Given the description of an element on the screen output the (x, y) to click on. 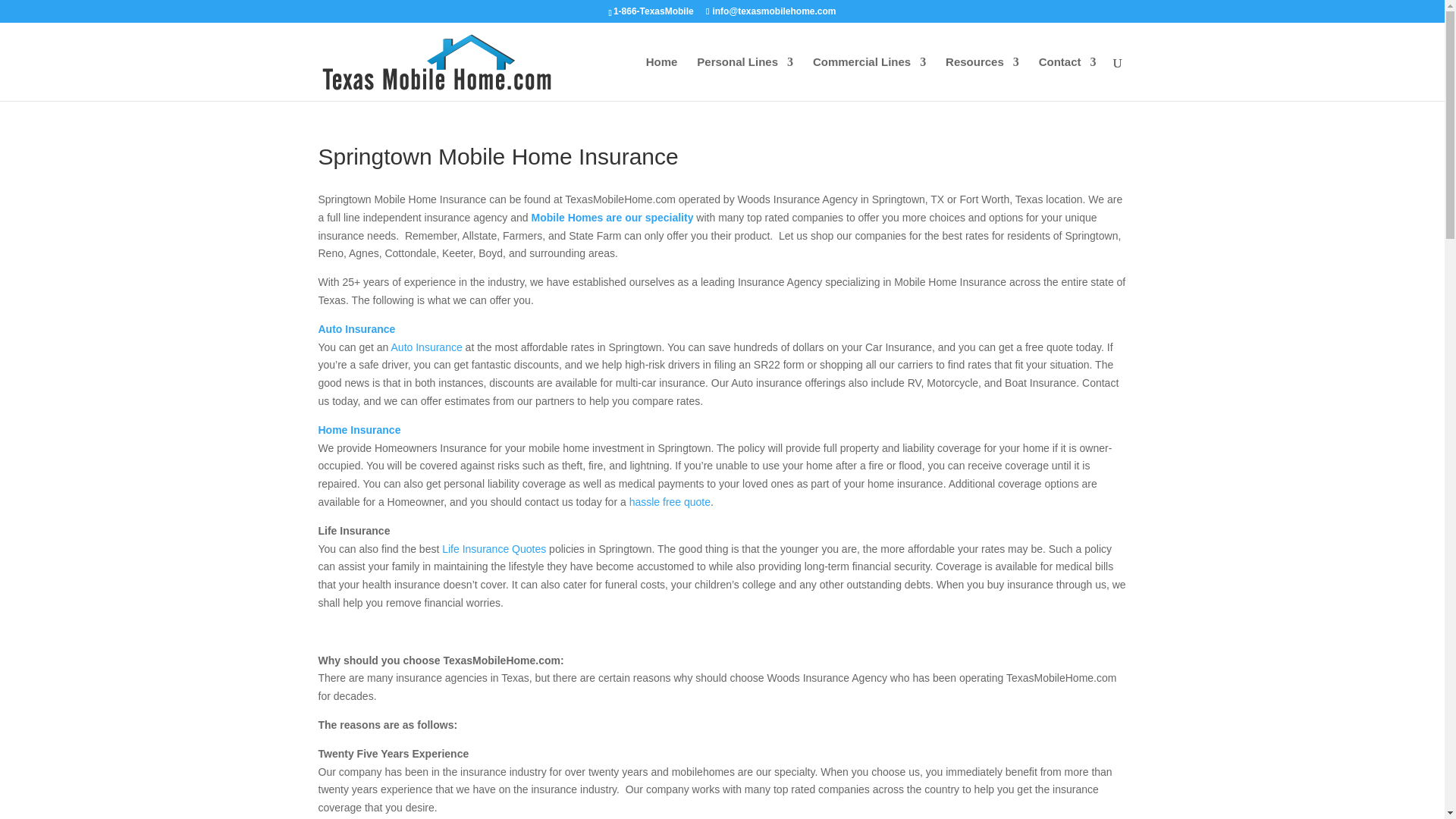
Personal Lines (745, 78)
Contact (1067, 78)
Resources (981, 78)
Commercial Lines (869, 78)
